Given the description of an element on the screen output the (x, y) to click on. 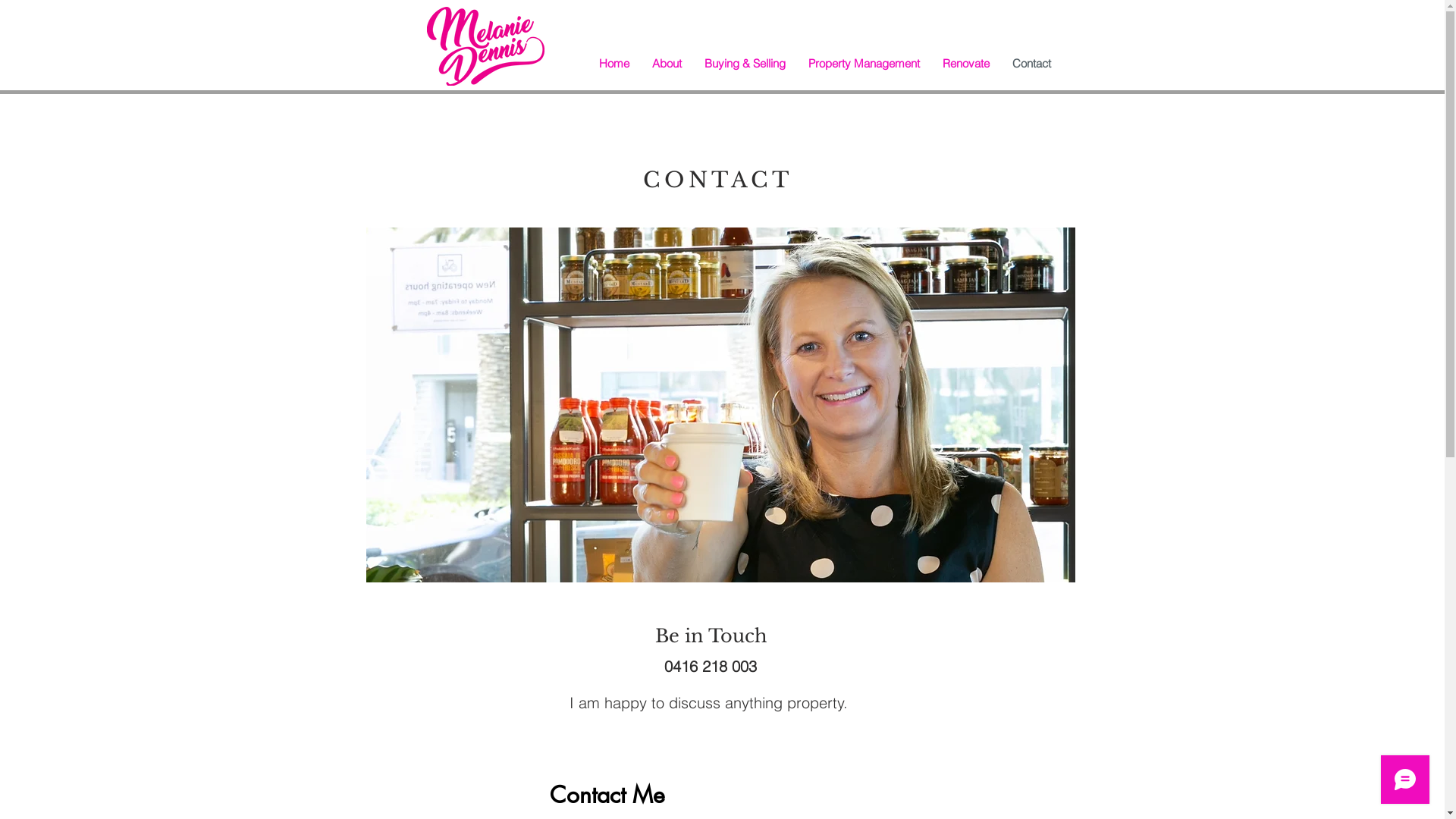
Buying & Selling Element type: text (745, 63)
Renovate Element type: text (966, 63)
Property Management Element type: text (864, 63)
About Element type: text (666, 63)
Contact Element type: text (1031, 63)
CONTACT Element type: text (717, 179)
Home Element type: text (613, 63)
